Given the description of an element on the screen output the (x, y) to click on. 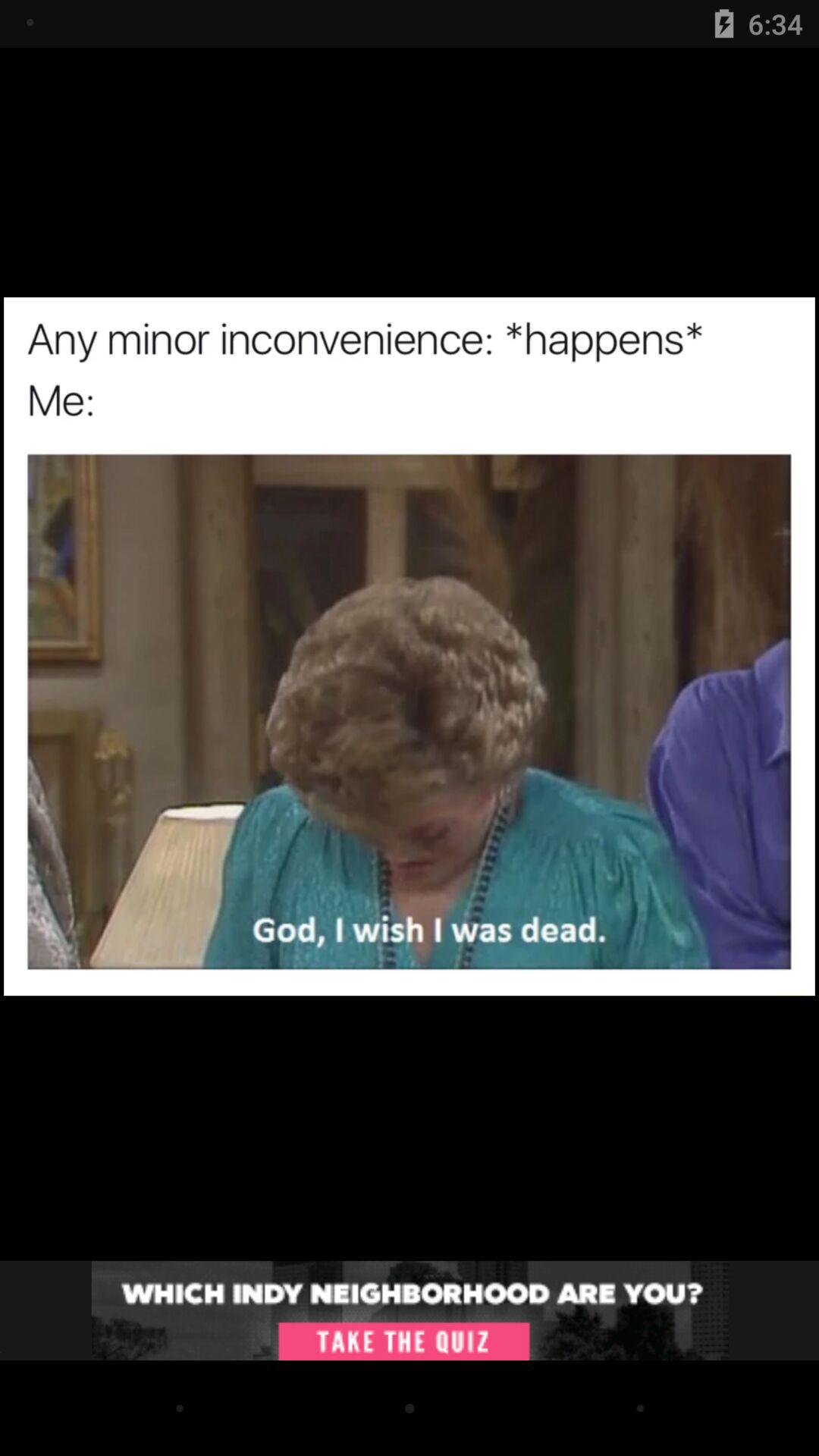
dialogue (409, 1310)
